Given the description of an element on the screen output the (x, y) to click on. 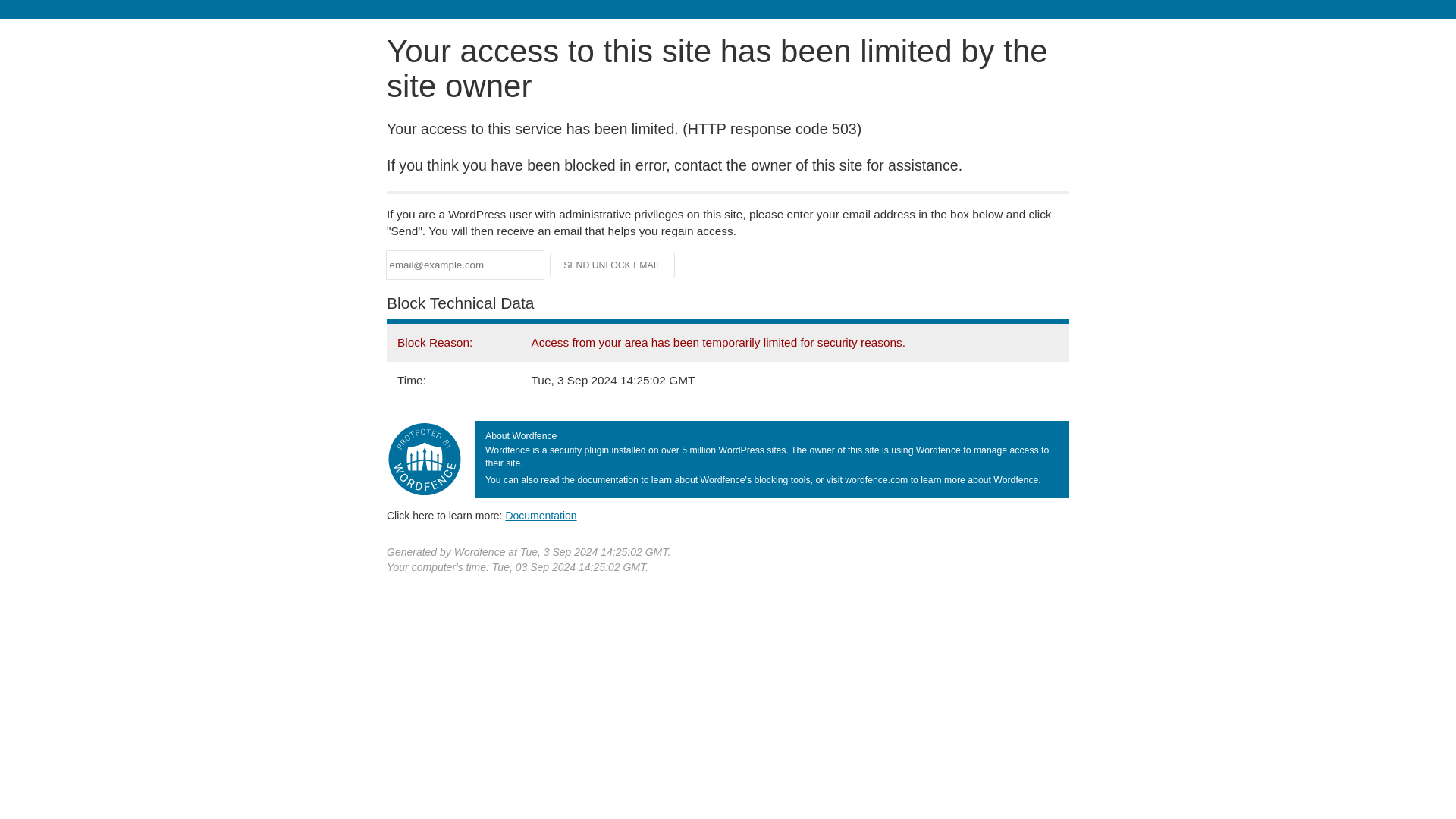
Documentation (540, 515)
Send Unlock Email (612, 265)
Send Unlock Email (612, 265)
